Given the description of an element on the screen output the (x, y) to click on. 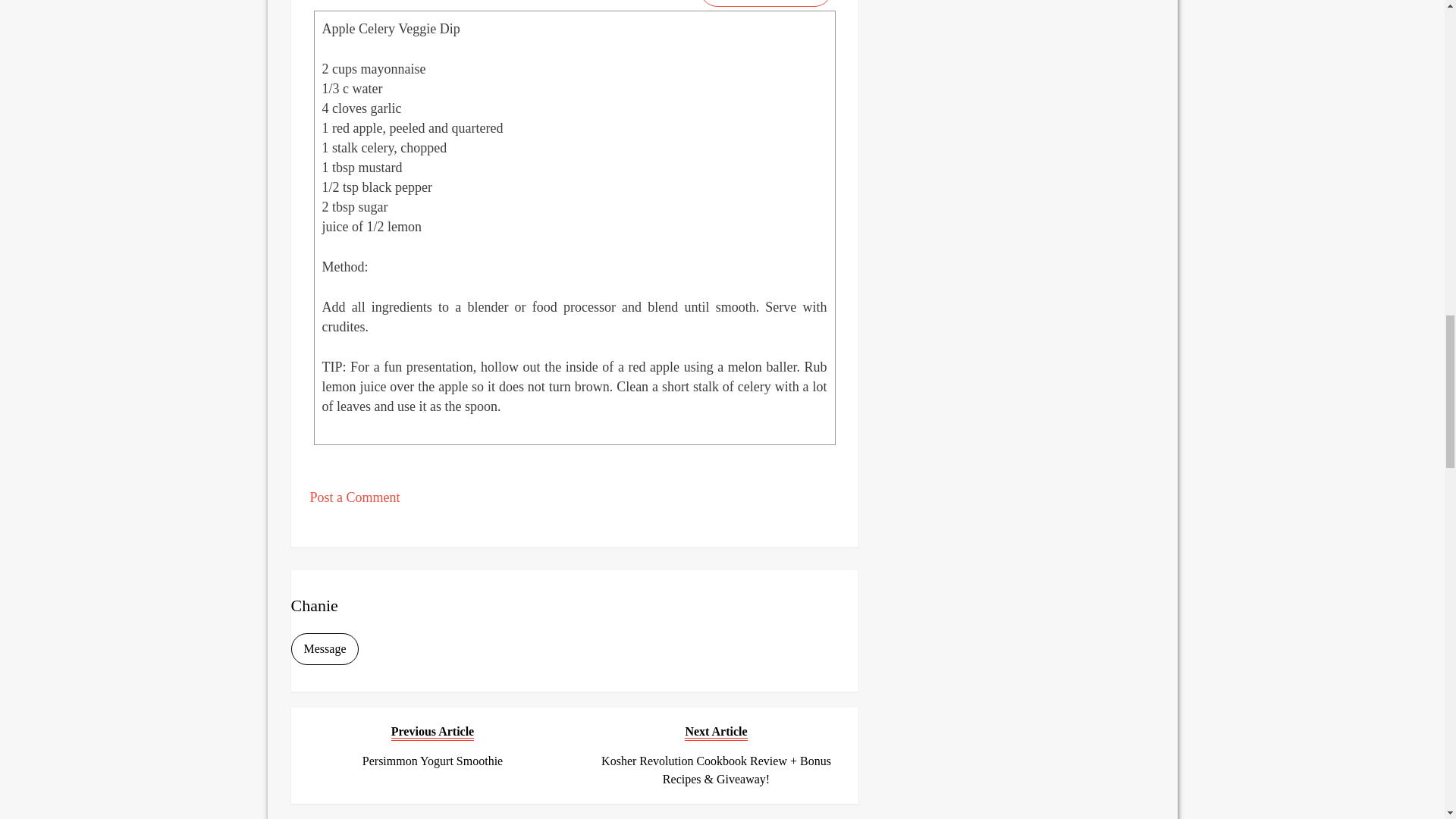
       Print This!     (765, 3)
Posts by chanie (314, 605)
Post a Comment (353, 497)
